Given the description of an element on the screen output the (x, y) to click on. 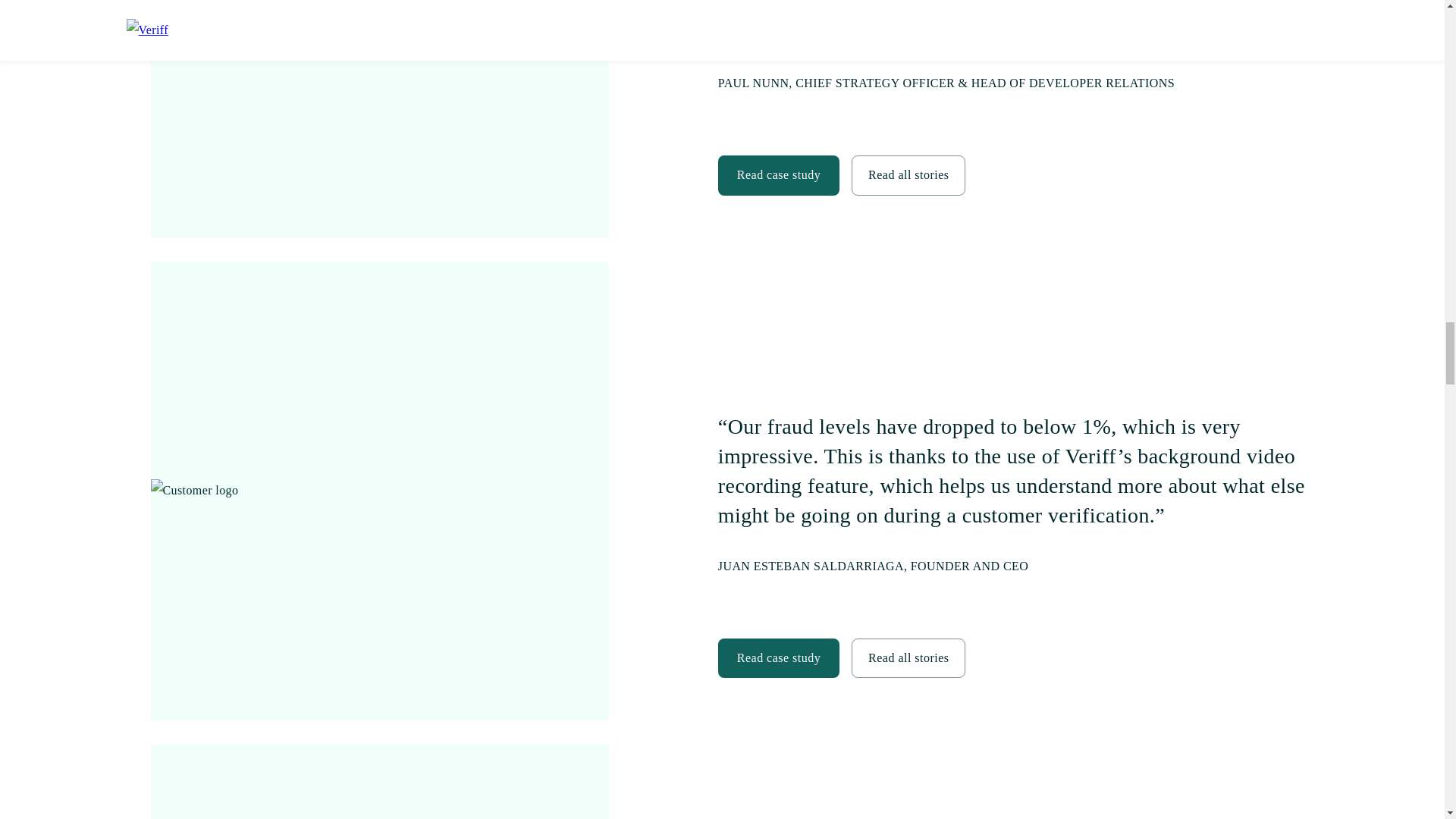
Read case study (778, 173)
Read all stories (908, 658)
Read case study (778, 658)
Read case study (778, 656)
Read all stories (908, 173)
Read case study (778, 174)
Read all stories (908, 174)
Read all stories (908, 656)
